Given the description of an element on the screen output the (x, y) to click on. 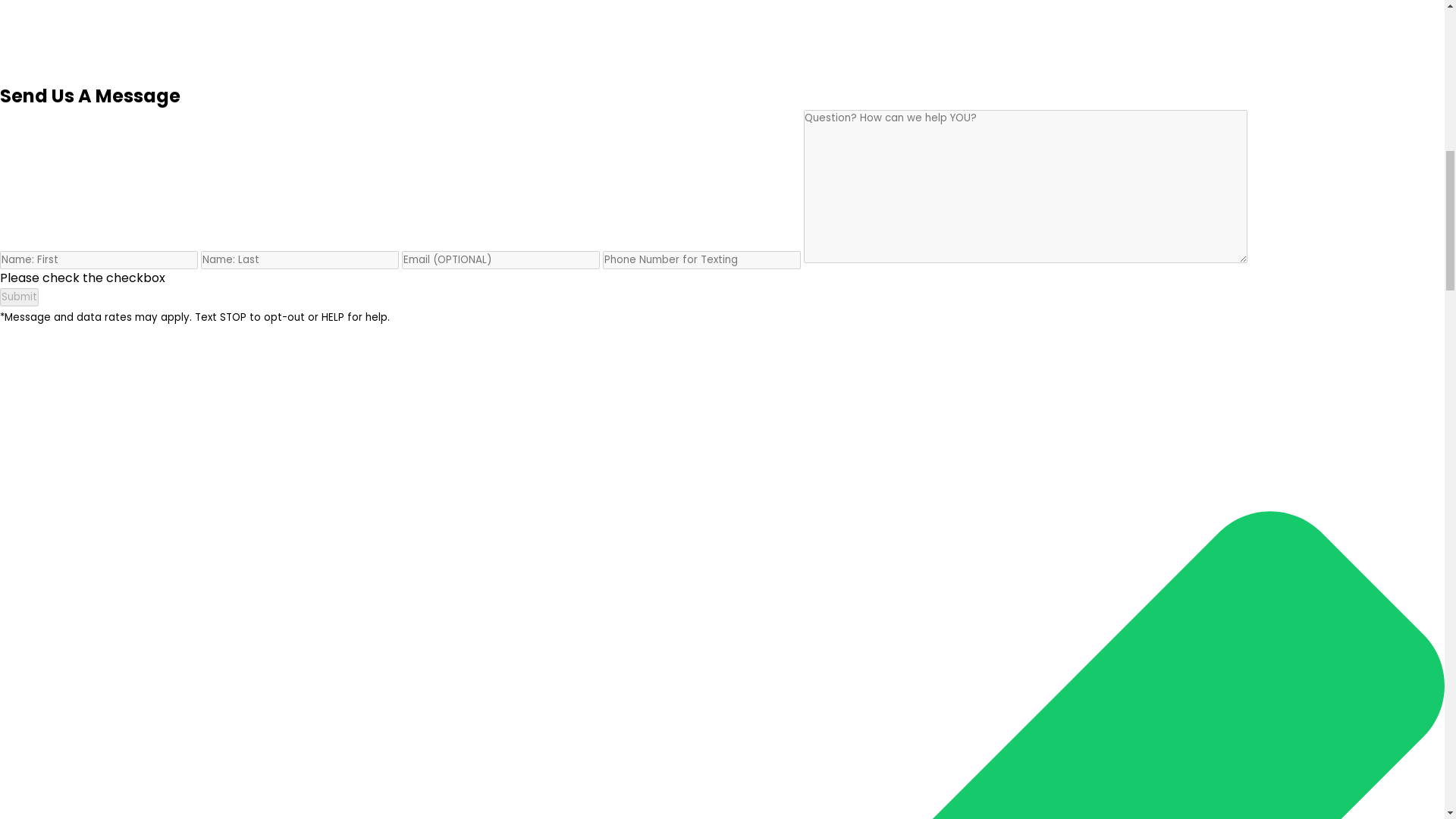
Submit (19, 297)
